Given the description of an element on the screen output the (x, y) to click on. 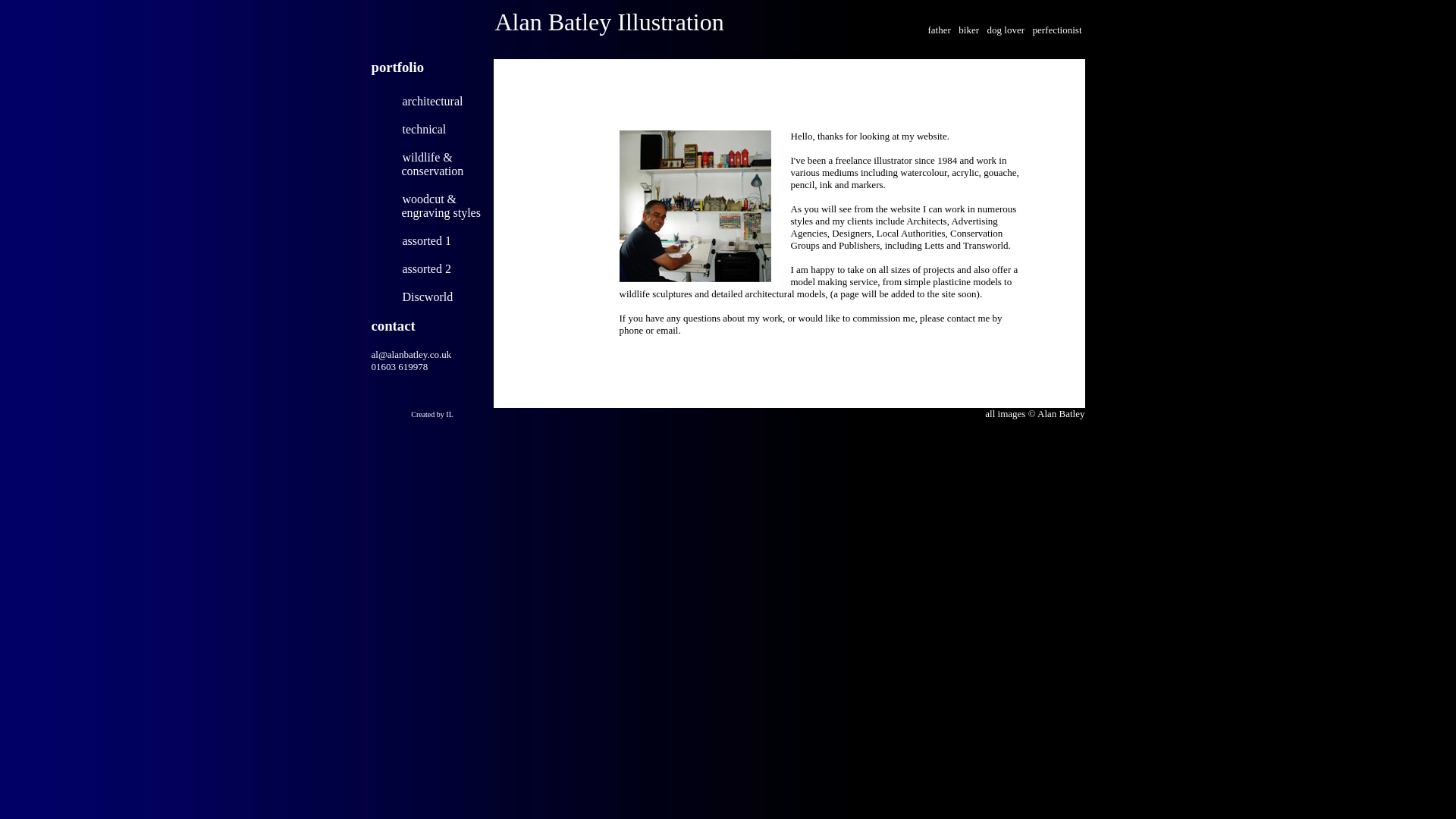
technical (423, 128)
Created by IL (431, 413)
Discworld (426, 296)
assorted 1 (425, 240)
assorted 2 (425, 268)
architectural (432, 101)
